Given the description of an element on the screen output the (x, y) to click on. 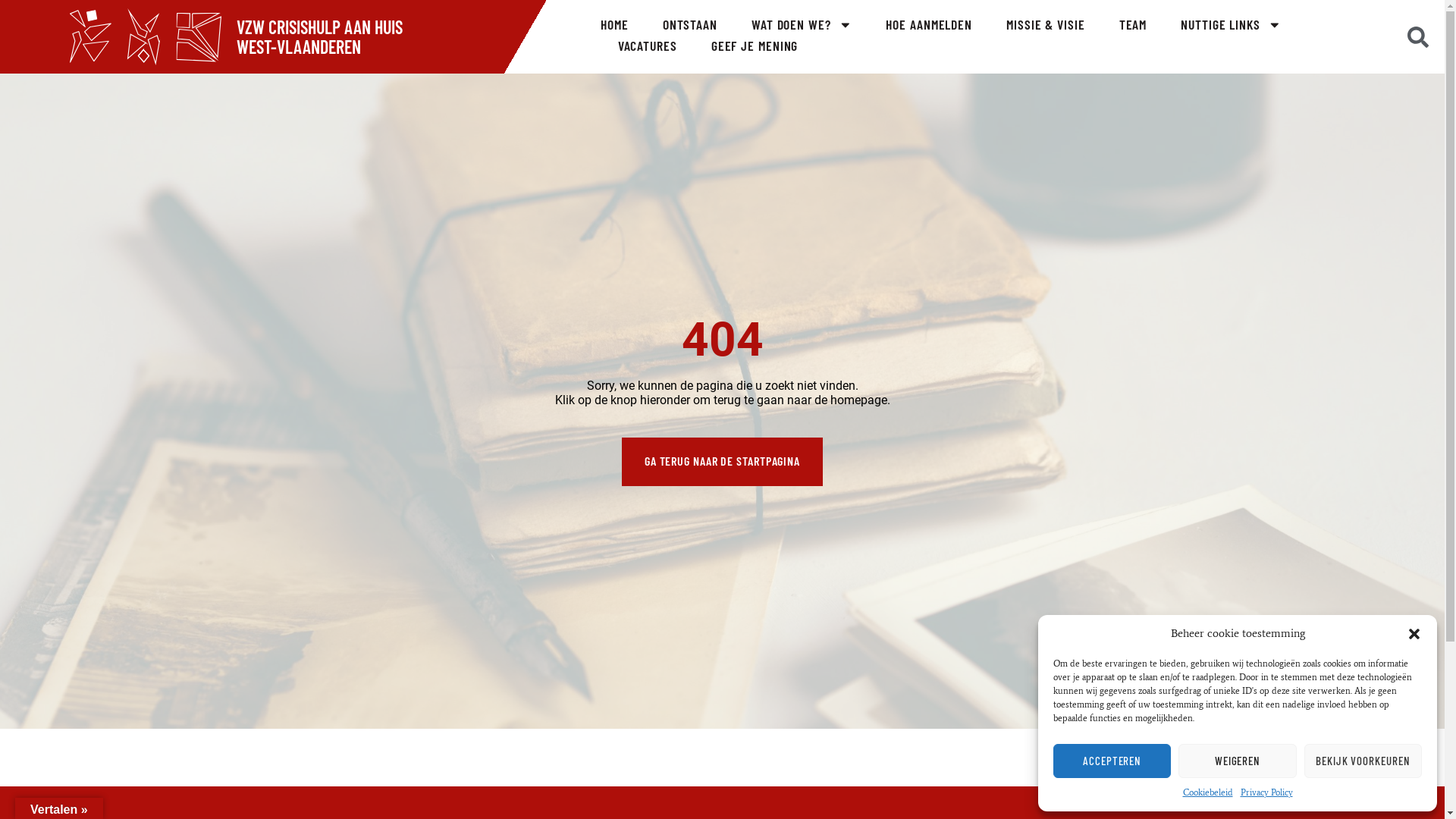
ONTSTAAN Element type: text (689, 24)
GA TERUG NAAR DE STARTPAGINA Element type: text (721, 461)
BEKIJK VOORKEUREN Element type: text (1362, 760)
WEIGEREN Element type: text (1236, 760)
Cookiebeleid Element type: text (1208, 792)
HOME Element type: text (614, 24)
ACCEPTEREN Element type: text (1111, 760)
GEEF JE MENING Element type: text (754, 45)
NUTTIGE LINKS Element type: text (1230, 24)
MISSIE & VISIE Element type: text (1045, 24)
VACATURES Element type: text (647, 45)
Privacy Policy Element type: text (1266, 792)
WAT DOEN WE? Element type: text (801, 24)
TEAM Element type: text (1133, 24)
HOE AANMELDEN Element type: text (928, 24)
